Given the description of an element on the screen output the (x, y) to click on. 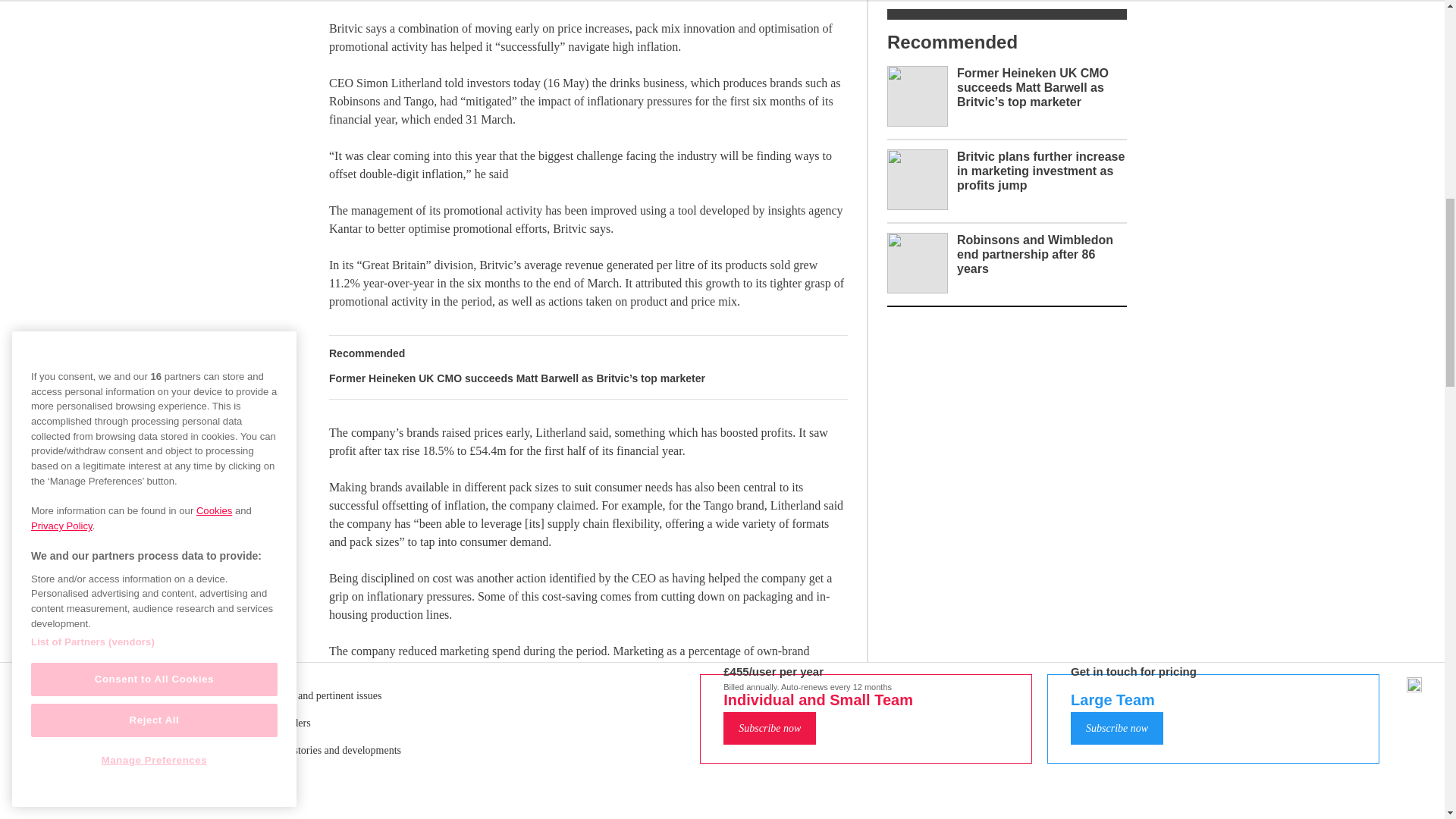
sponsorship of Wimbledon (595, 813)
